Given the description of an element on the screen output the (x, y) to click on. 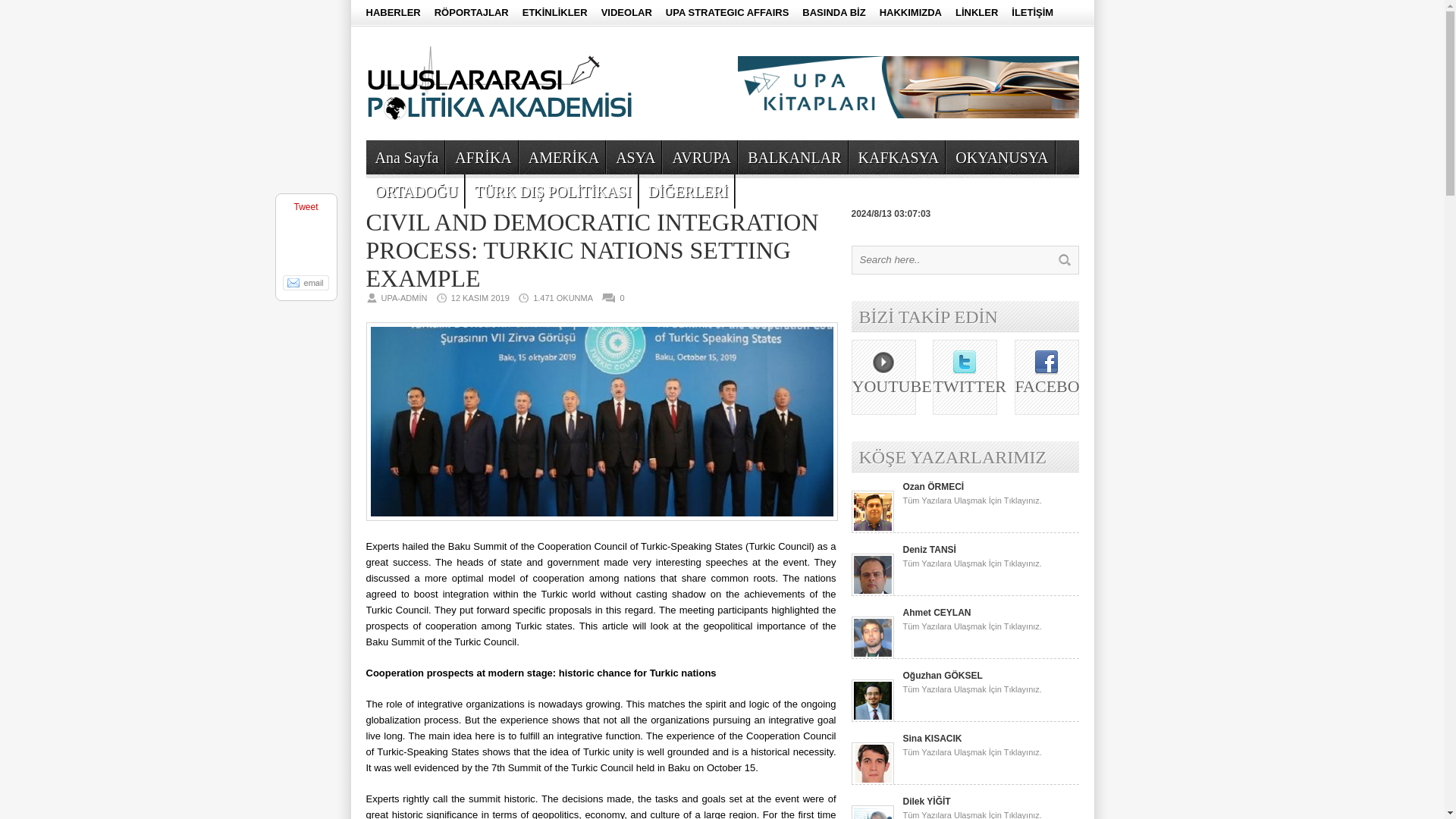
HAKKIMIZDA (910, 13)
KAFKASYA (896, 156)
UPA STRATEGIC AFFAIRS (727, 13)
Search here.. (951, 259)
AVRUPA (699, 156)
Ana Sayfa (404, 156)
ASYA (634, 156)
VIDEOLAR (626, 13)
OKYANUSYA (1000, 156)
BALKANLAR (792, 156)
